Given the description of an element on the screen output the (x, y) to click on. 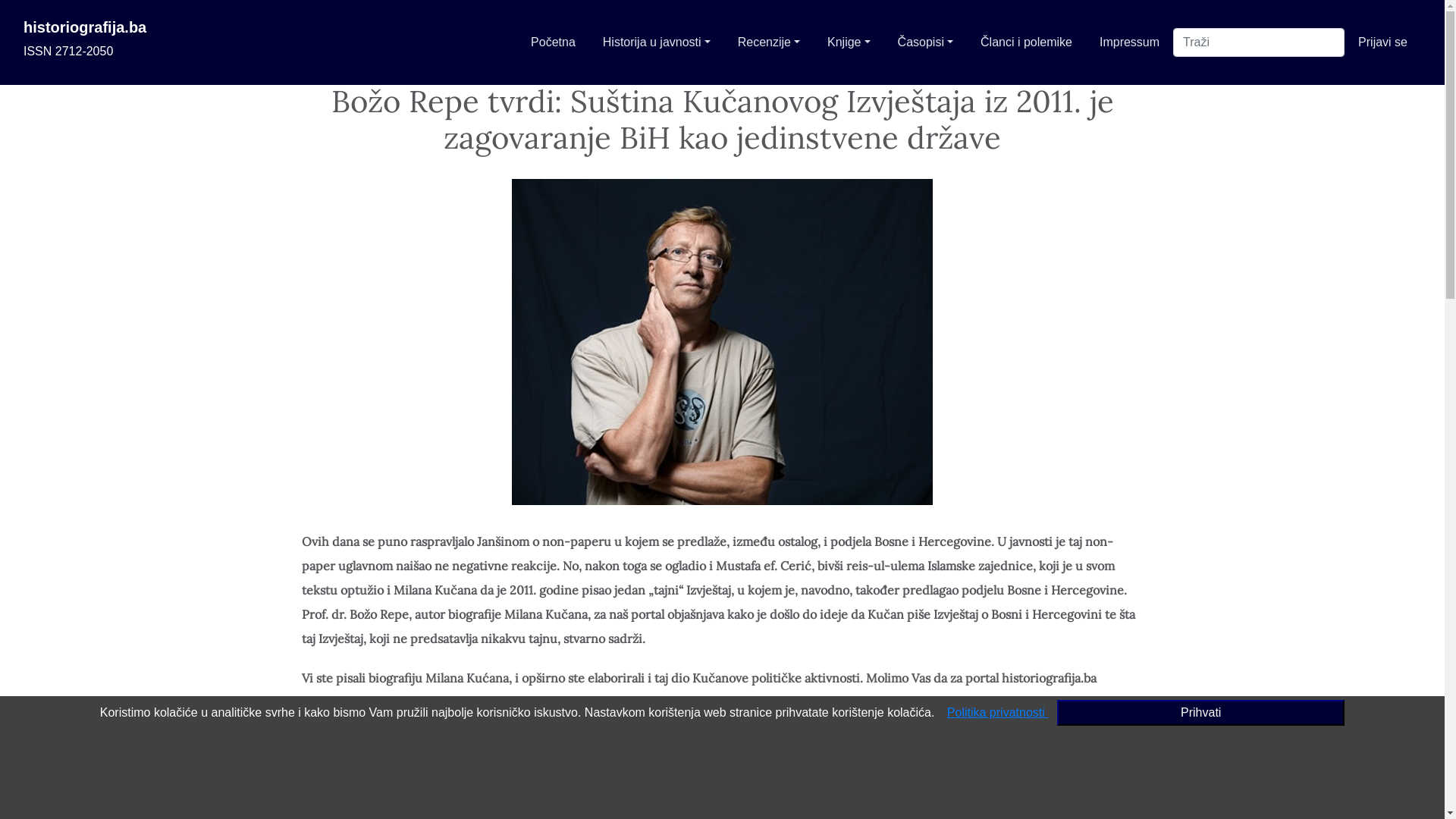
Prihvati Element type: text (1200, 712)
Recenzije Element type: text (768, 42)
Knjige Element type: text (848, 42)
Impressum Element type: text (1129, 42)
Historija u javnosti Element type: text (656, 42)
Prijavi se Element type: text (1382, 42)
Politika privatnosti Element type: text (997, 712)
historiografija.ba Element type: text (84, 27)
